Given the description of an element on the screen output the (x, y) to click on. 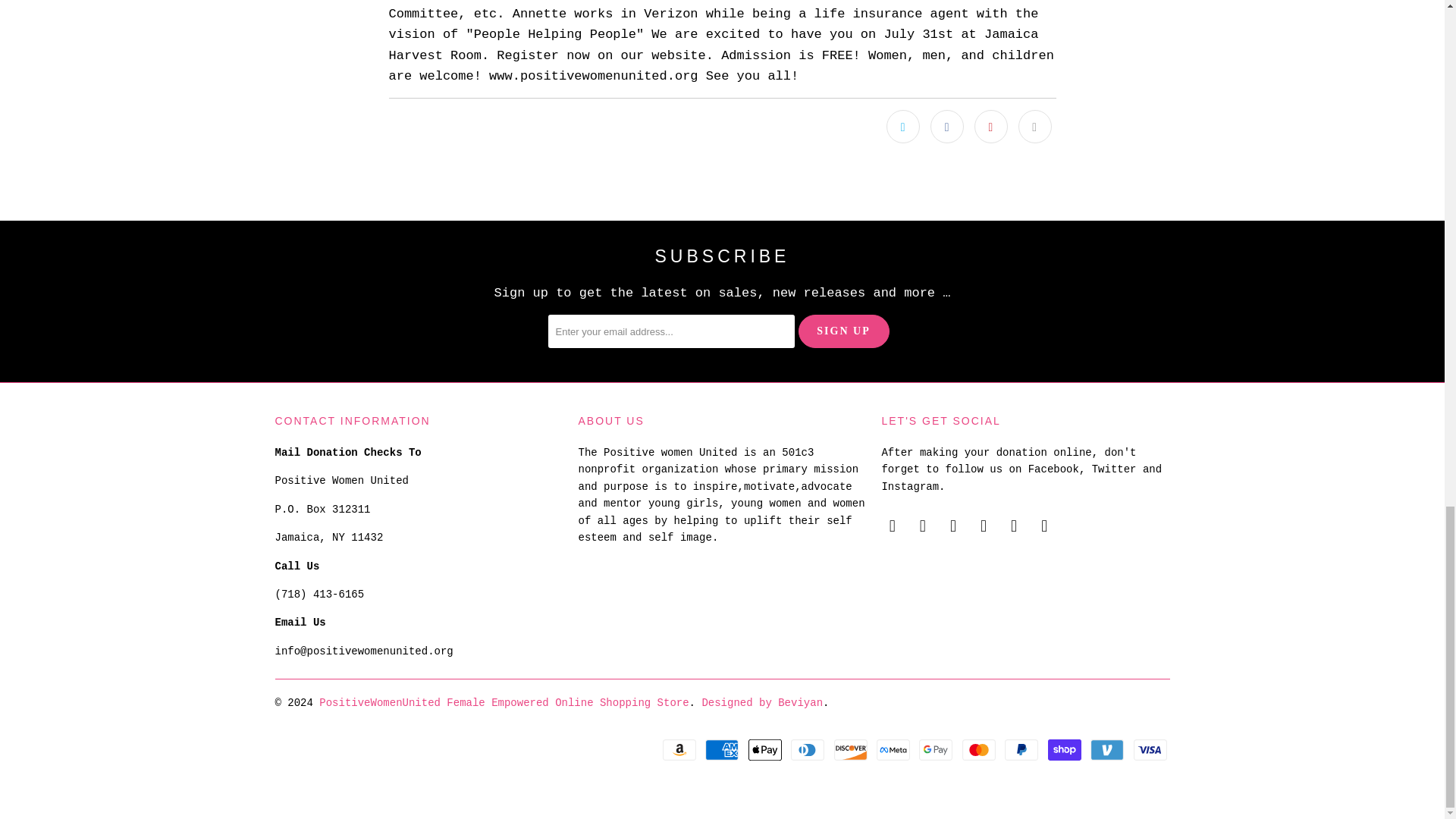
Share this on Facebook (946, 126)
Visa (1150, 749)
Diners Club (808, 749)
Sign Up (842, 331)
Discover (852, 749)
Shop Pay (1066, 749)
Share this on Twitter (903, 126)
Meta Pay (894, 749)
PayPal (1022, 749)
Amazon (680, 749)
Email this to a friend (1034, 126)
Mastercard (980, 749)
American Express (722, 749)
